Given the description of an element on the screen output the (x, y) to click on. 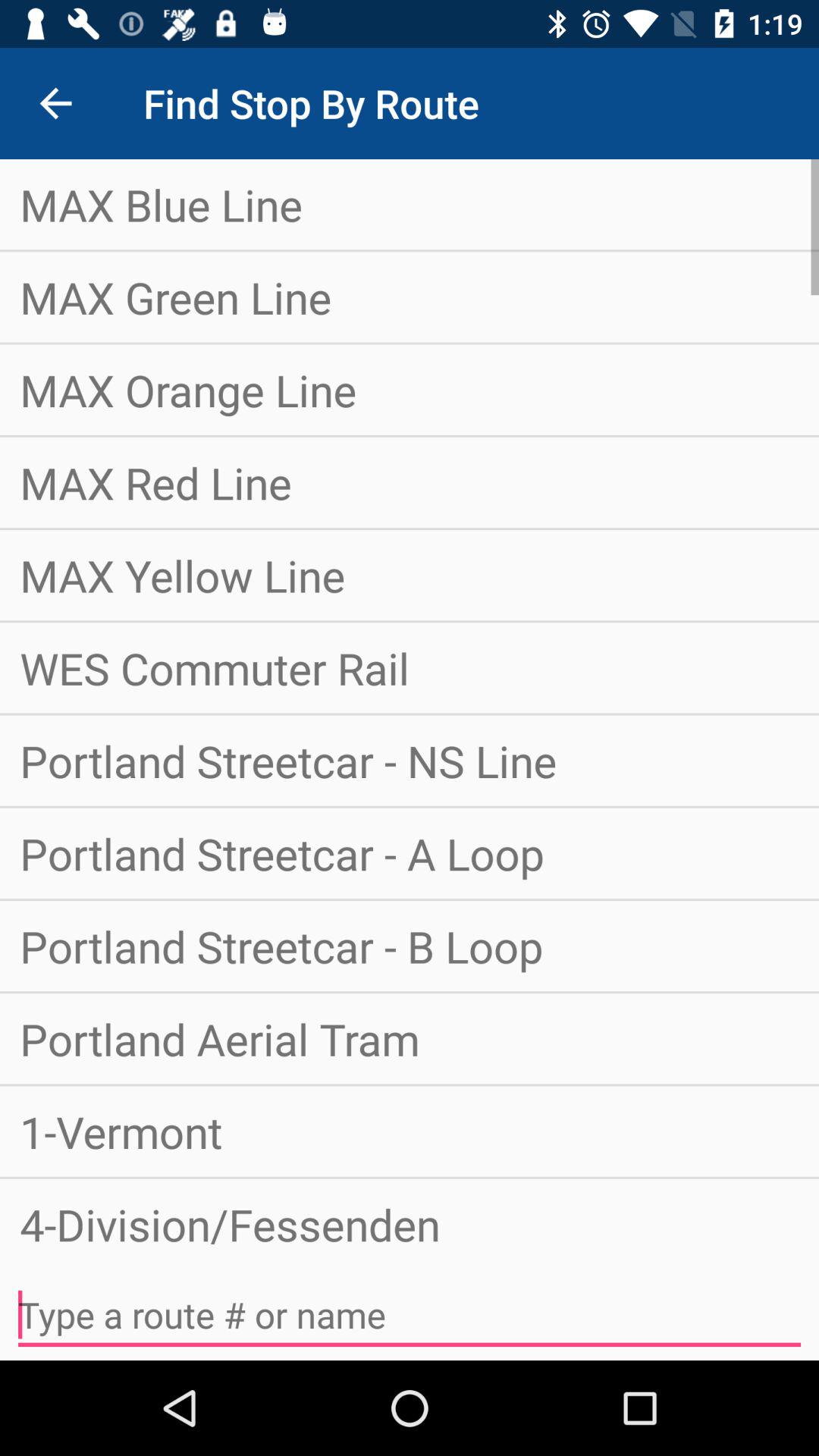
turn off the 4-division/fessenden item (409, 1217)
